Given the description of an element on the screen output the (x, y) to click on. 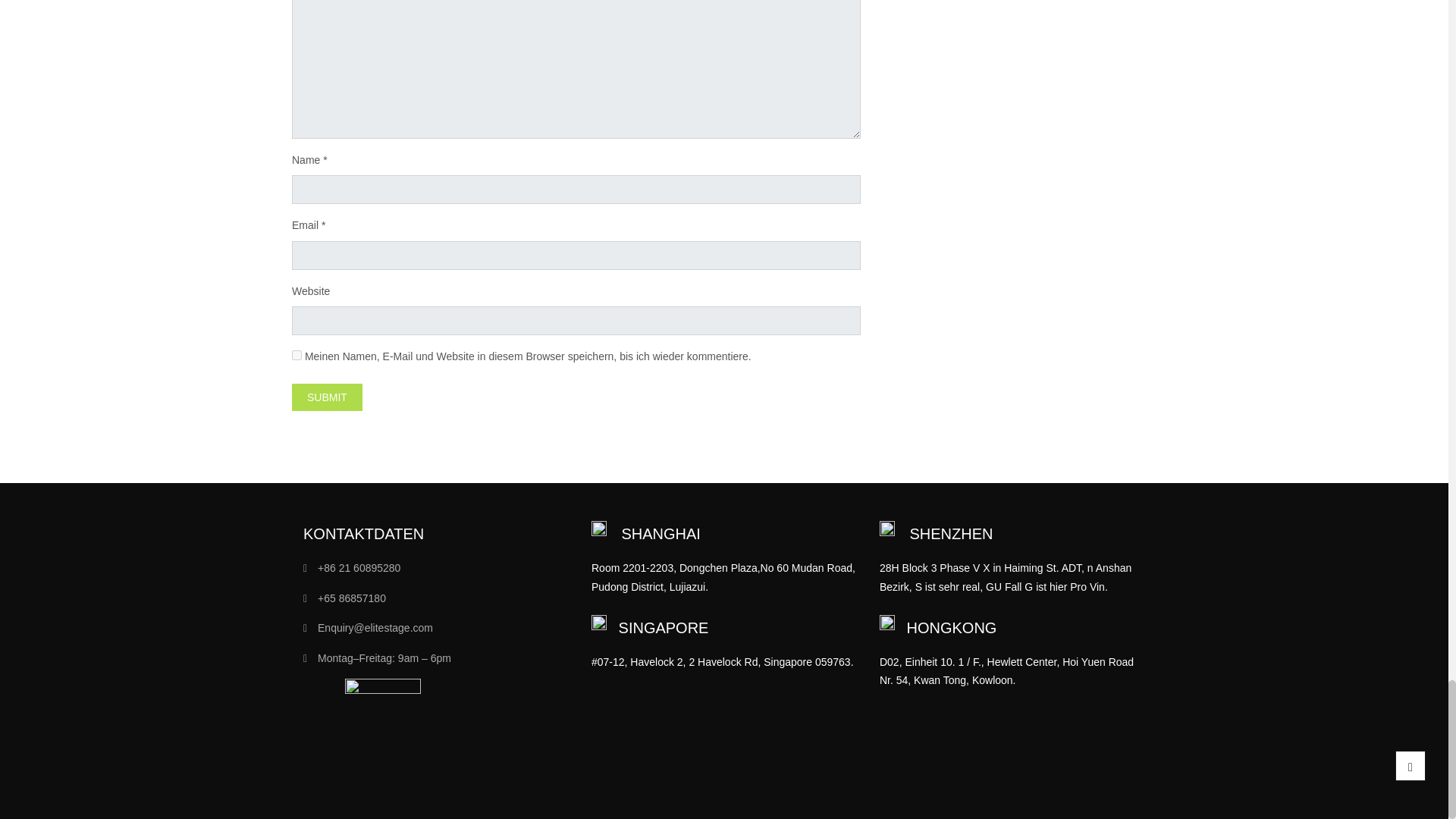
yes (296, 355)
Submit (327, 397)
